Given the description of an element on the screen output the (x, y) to click on. 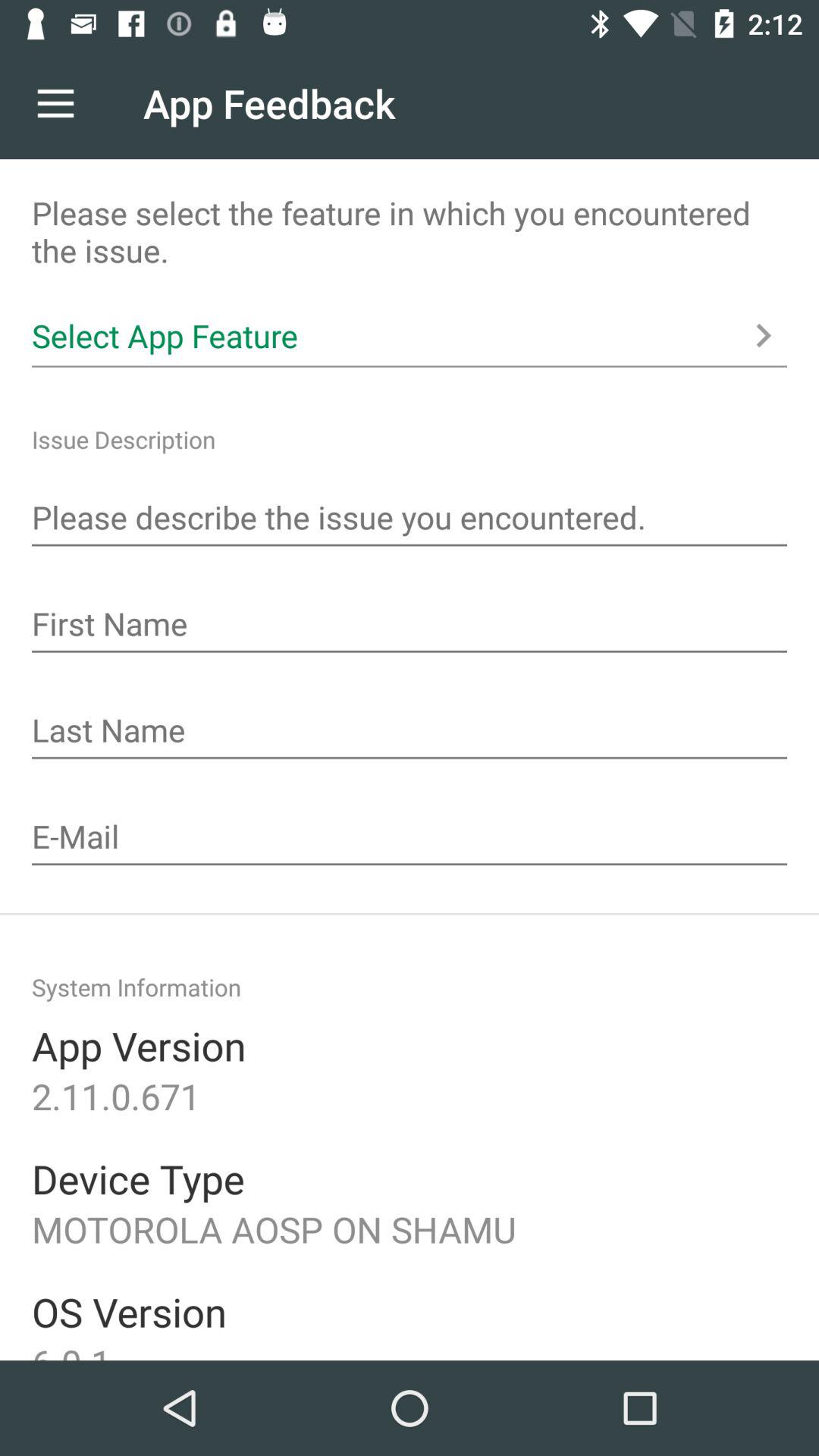
describe issue (409, 519)
